Given the description of an element on the screen output the (x, y) to click on. 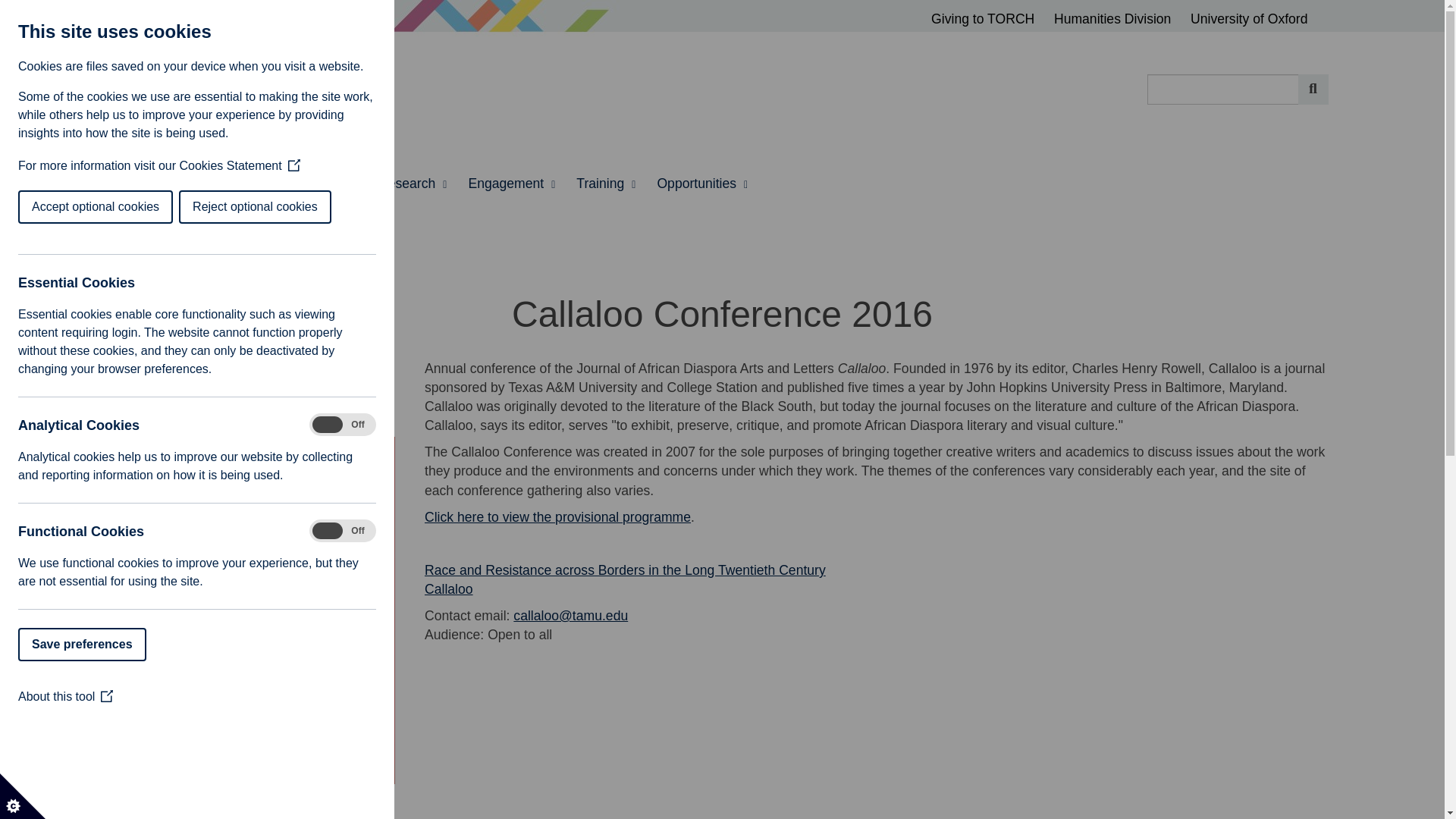
Enter the terms you wish to search for (1222, 89)
What's On (325, 183)
Save preferences (25, 644)
Discover (151, 183)
University of Oxford (1249, 19)
Search (1312, 89)
Humanities Division (1119, 19)
Research (412, 183)
Opportunities (702, 183)
Engagement (511, 183)
Humanities Division (1119, 19)
Giving to TORCH (989, 19)
Giving to TORCH (989, 19)
Who We Are (236, 183)
Reject optional cookies (115, 206)
